Given the description of an element on the screen output the (x, y) to click on. 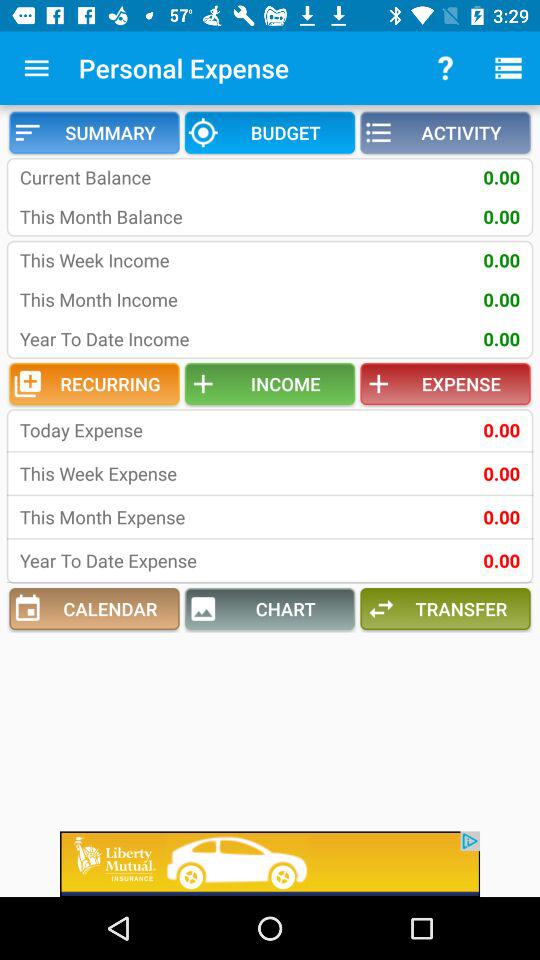
turn off the transfer item (445, 609)
